Given the description of an element on the screen output the (x, y) to click on. 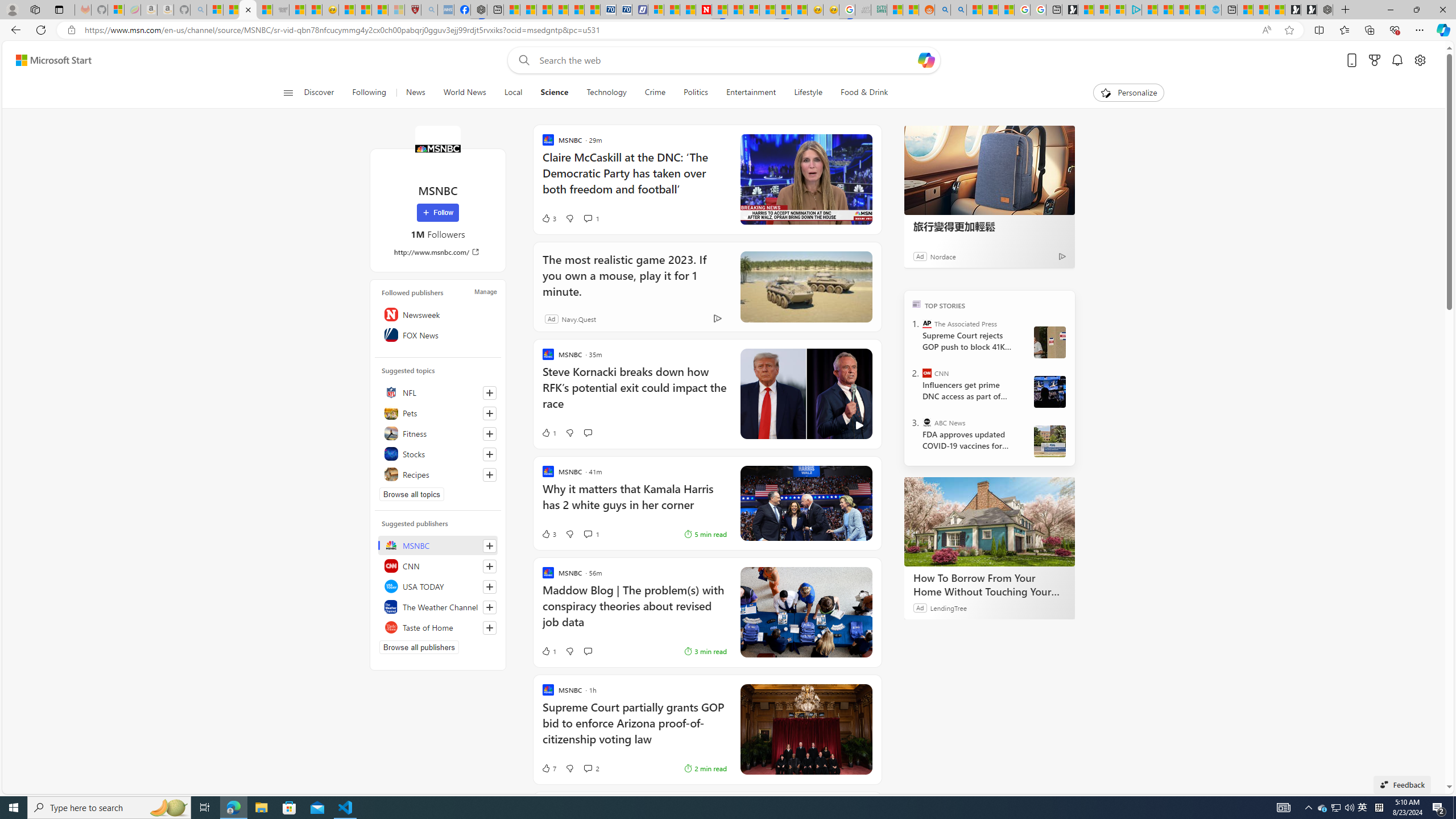
 ATS_2336.jpg (1049, 391)
Notifications (1397, 60)
Politics (695, 92)
View comments 2 Comment (591, 768)
World News (464, 92)
ABC News (927, 422)
Technology (606, 92)
Enter your search term (726, 59)
Follow (437, 212)
MSNBC (437, 148)
Combat Siege (280, 9)
Lifestyle (807, 92)
